Given the description of an element on the screen output the (x, y) to click on. 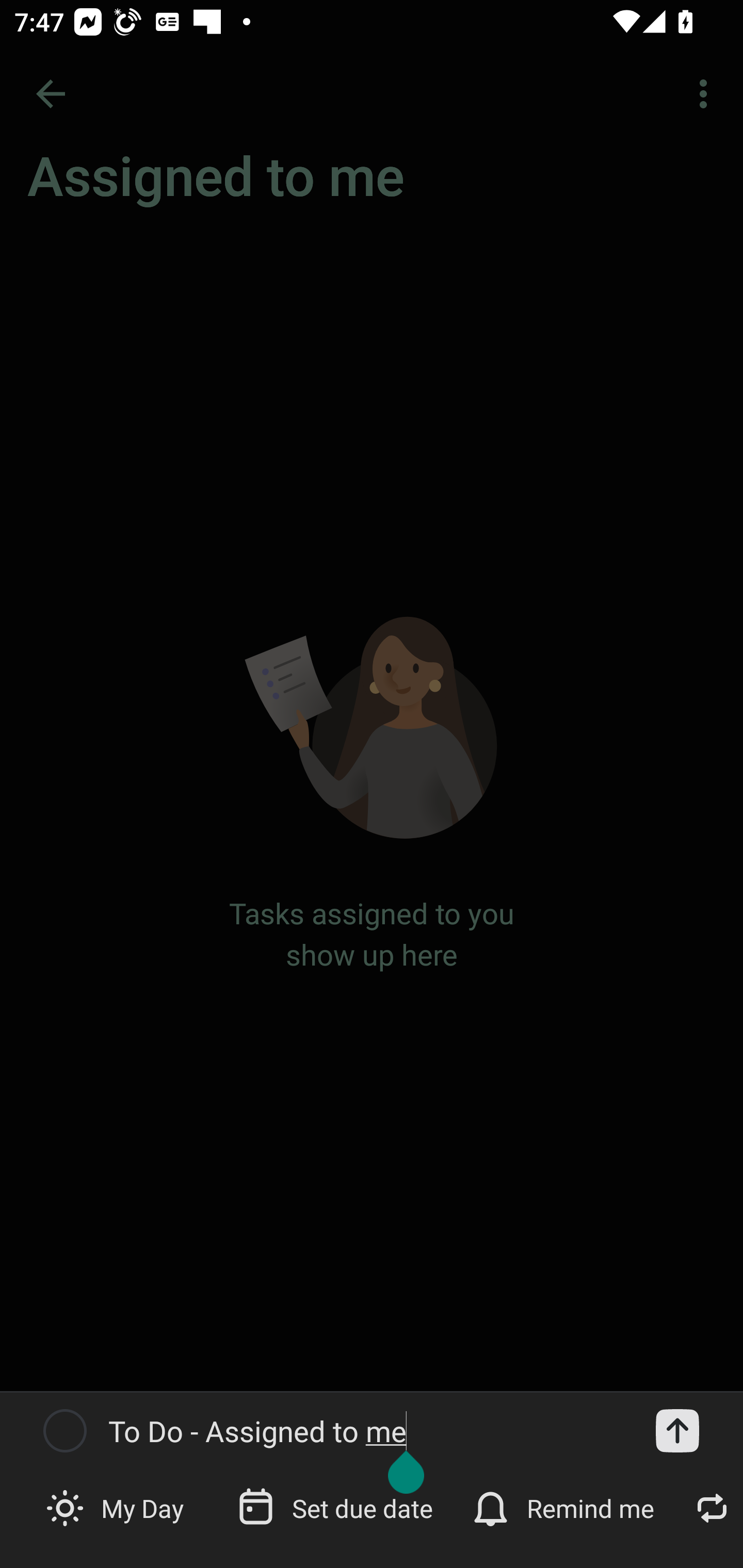
Add a task (676, 1430)
To Do - Assigned to me (366, 1430)
My Day (116, 1507)
Set due date (337, 1507)
Remind me (565, 1507)
